Given the description of an element on the screen output the (x, y) to click on. 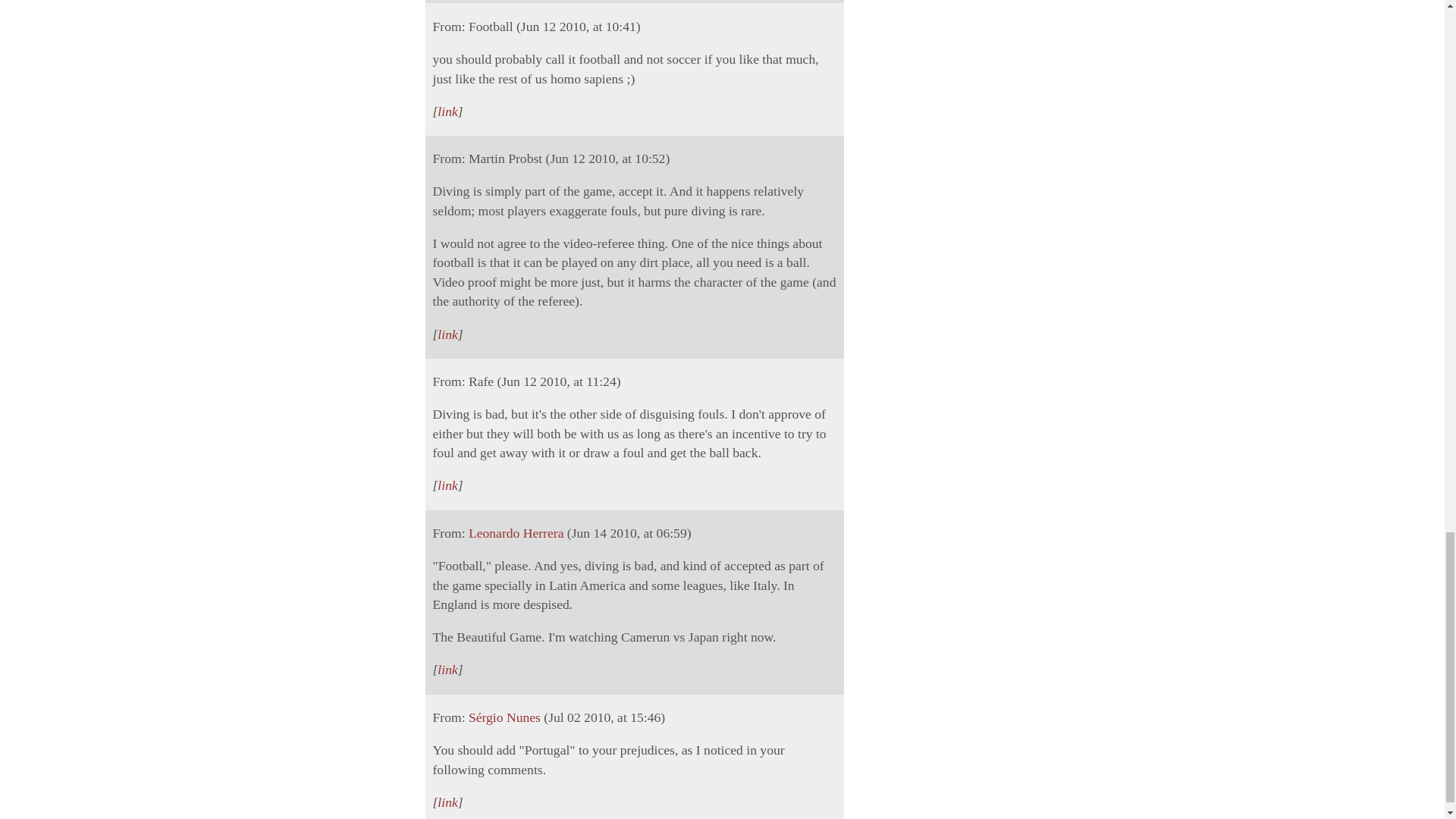
link (447, 801)
link (447, 111)
link (447, 485)
Leonardo Herrera (516, 532)
link (447, 334)
link (447, 669)
